Given the description of an element on the screen output the (x, y) to click on. 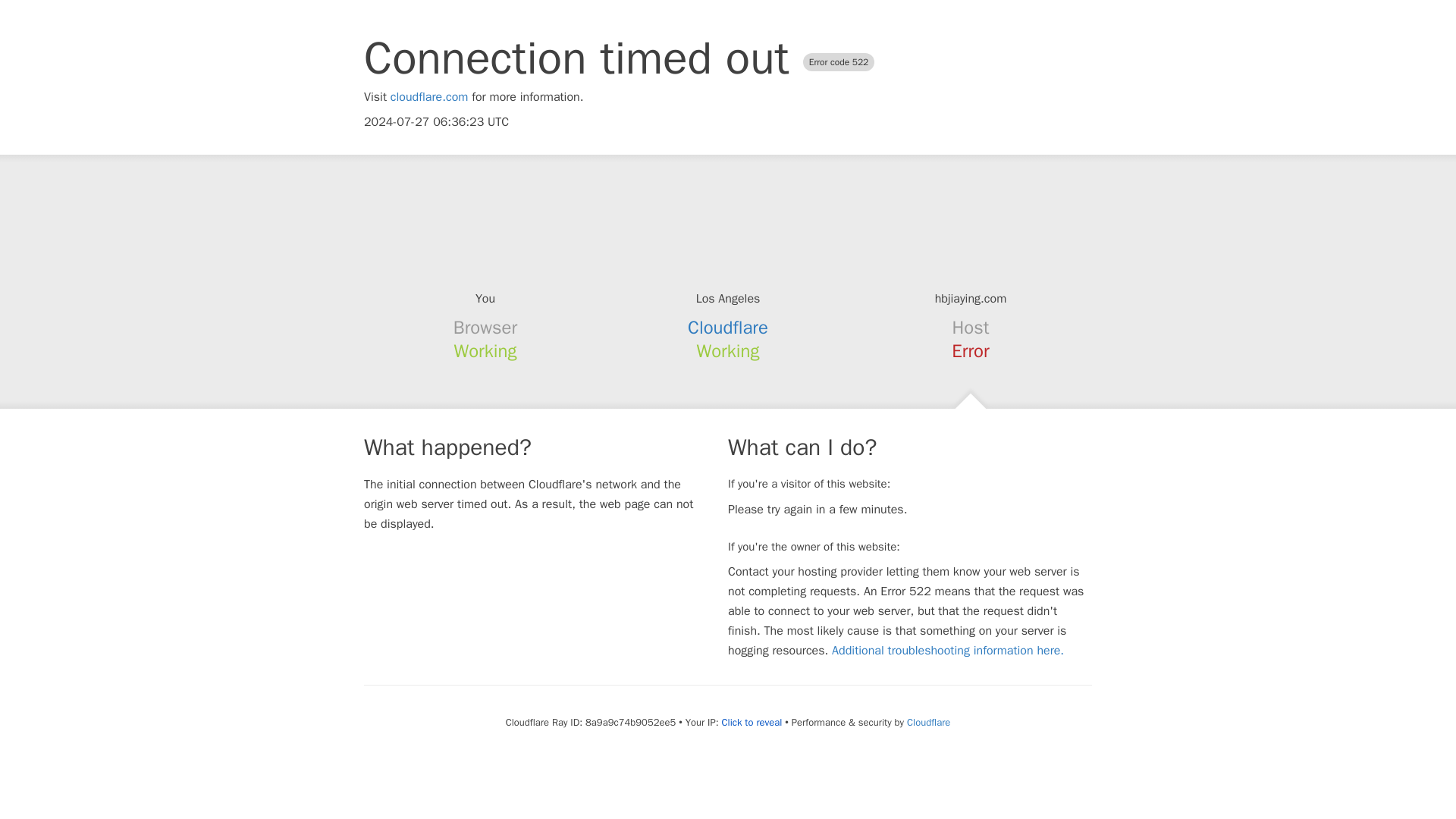
Cloudflare (727, 327)
cloudflare.com (429, 96)
Cloudflare (928, 721)
Click to reveal (750, 722)
Additional troubleshooting information here. (947, 650)
